Given the description of an element on the screen output the (x, y) to click on. 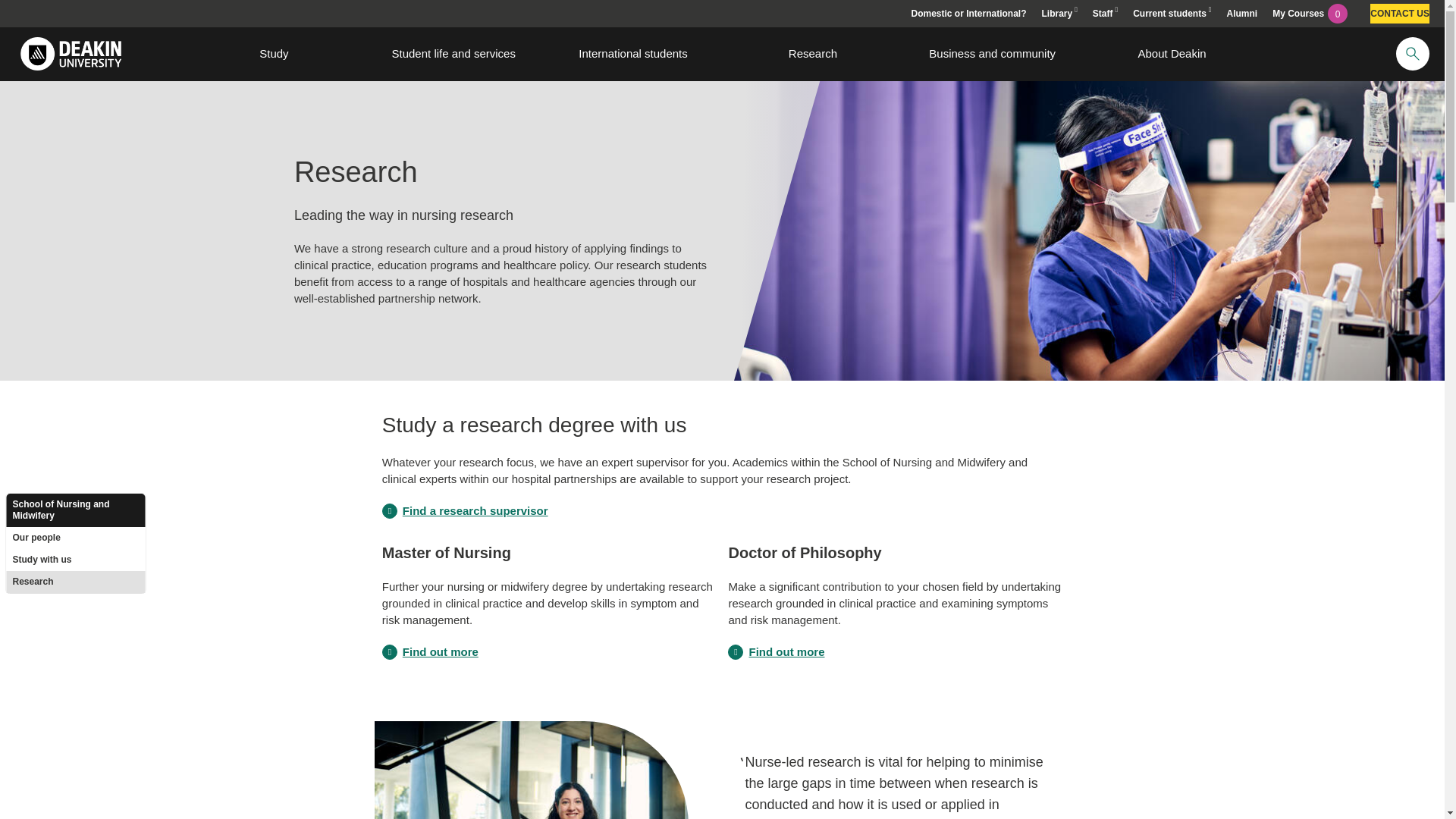
Study (274, 53)
Deakin University Australia (69, 53)
